Given the description of an element on the screen output the (x, y) to click on. 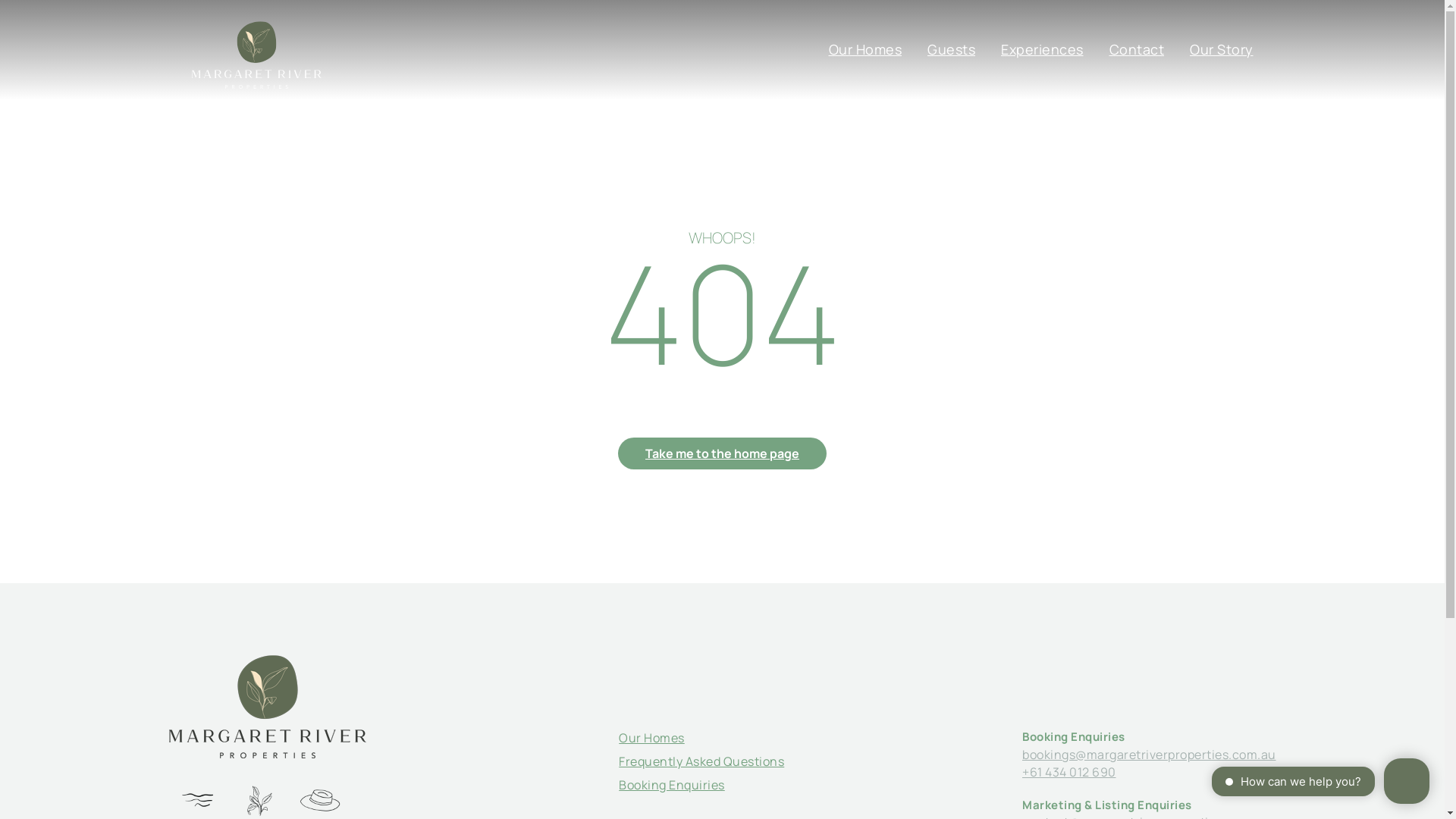
Take me to the home page Element type: text (722, 453)
Contact Element type: text (1136, 48)
trengo-widget-launcher Element type: hover (1406, 780)
Guests Element type: text (951, 48)
Our Story Element type: text (1221, 48)
bookings@margaretriverproperties.com.au Element type: text (1149, 754)
Experiences Element type: text (1042, 48)
+61 434 012 690 Element type: text (1069, 771)
Frequently Asked Questions Element type: text (701, 761)
Our Homes Element type: text (864, 48)
Booking Enquiries Element type: text (671, 784)
trengo-widget-status Element type: hover (1269, 782)
Our Homes Element type: text (651, 737)
